Given the description of an element on the screen output the (x, y) to click on. 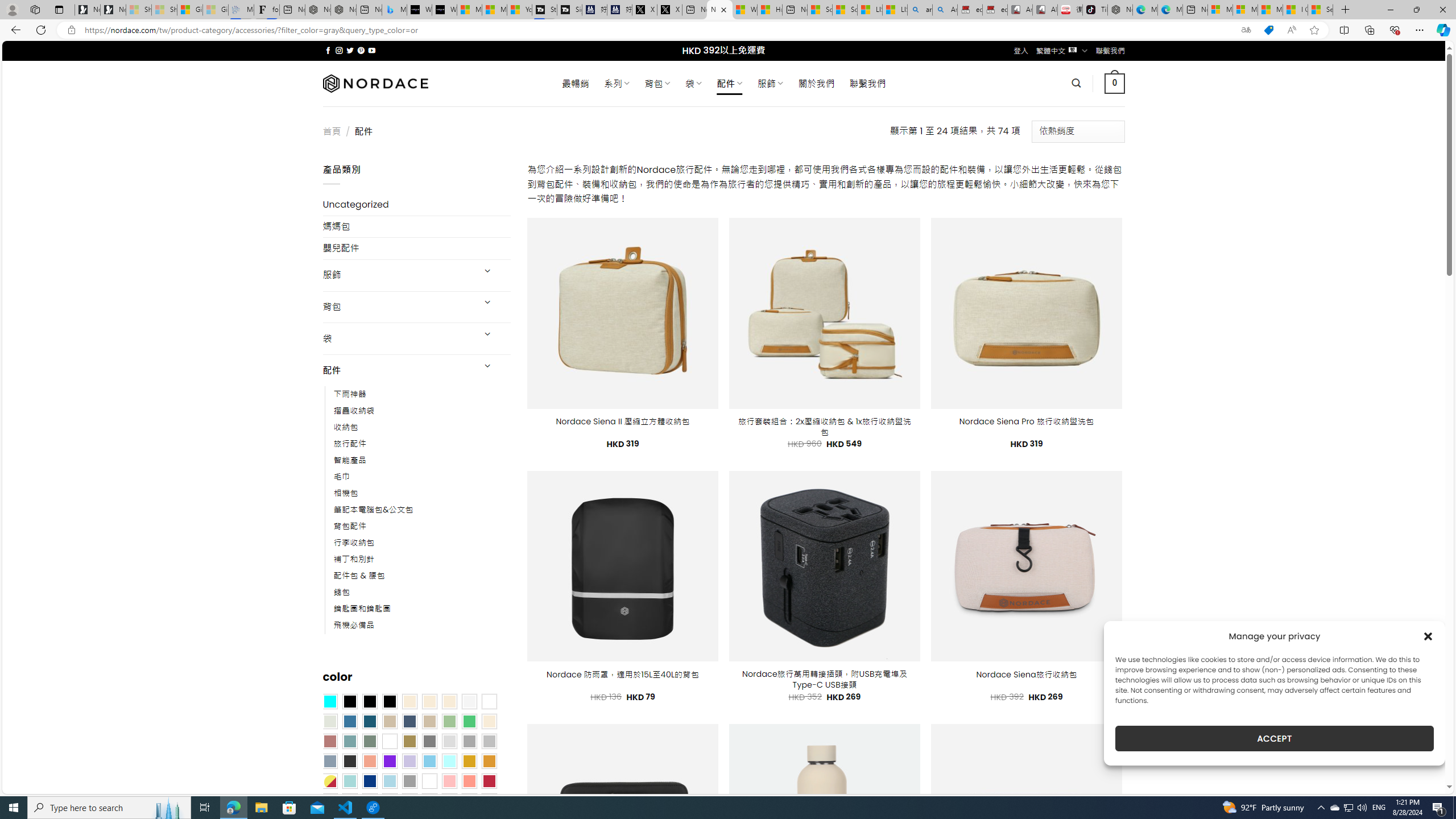
Newsletter Sign Up (113, 9)
Follow on Twitter (349, 50)
App bar (728, 29)
